Given the description of an element on the screen output the (x, y) to click on. 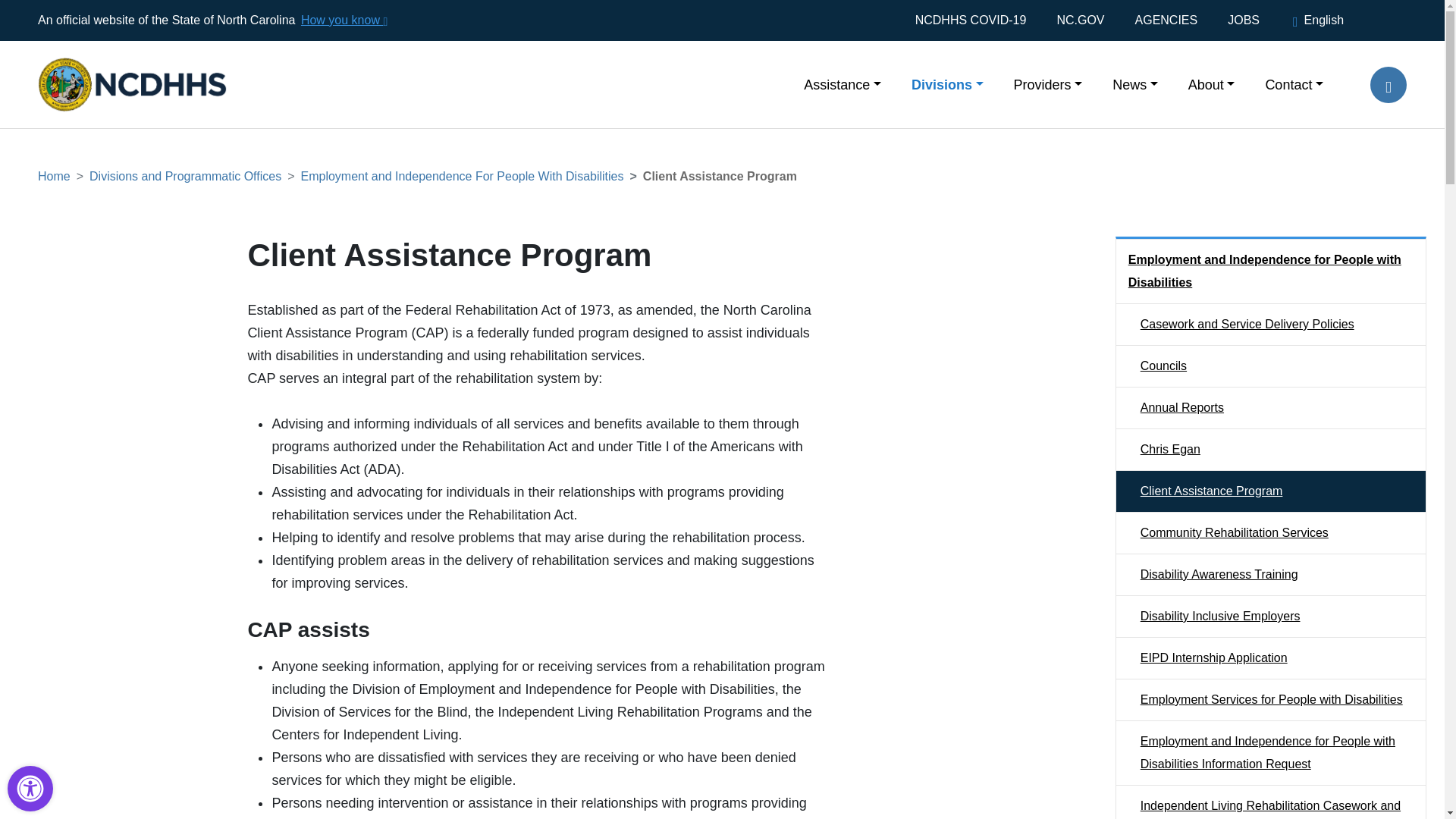
Divisions (947, 83)
How you know (342, 20)
Assistance (842, 83)
NCDHHS COVID-19 (978, 20)
Home (116, 61)
NC.GOV (1080, 20)
JOBS (1243, 20)
AGENCIES (1165, 20)
